Given the description of an element on the screen output the (x, y) to click on. 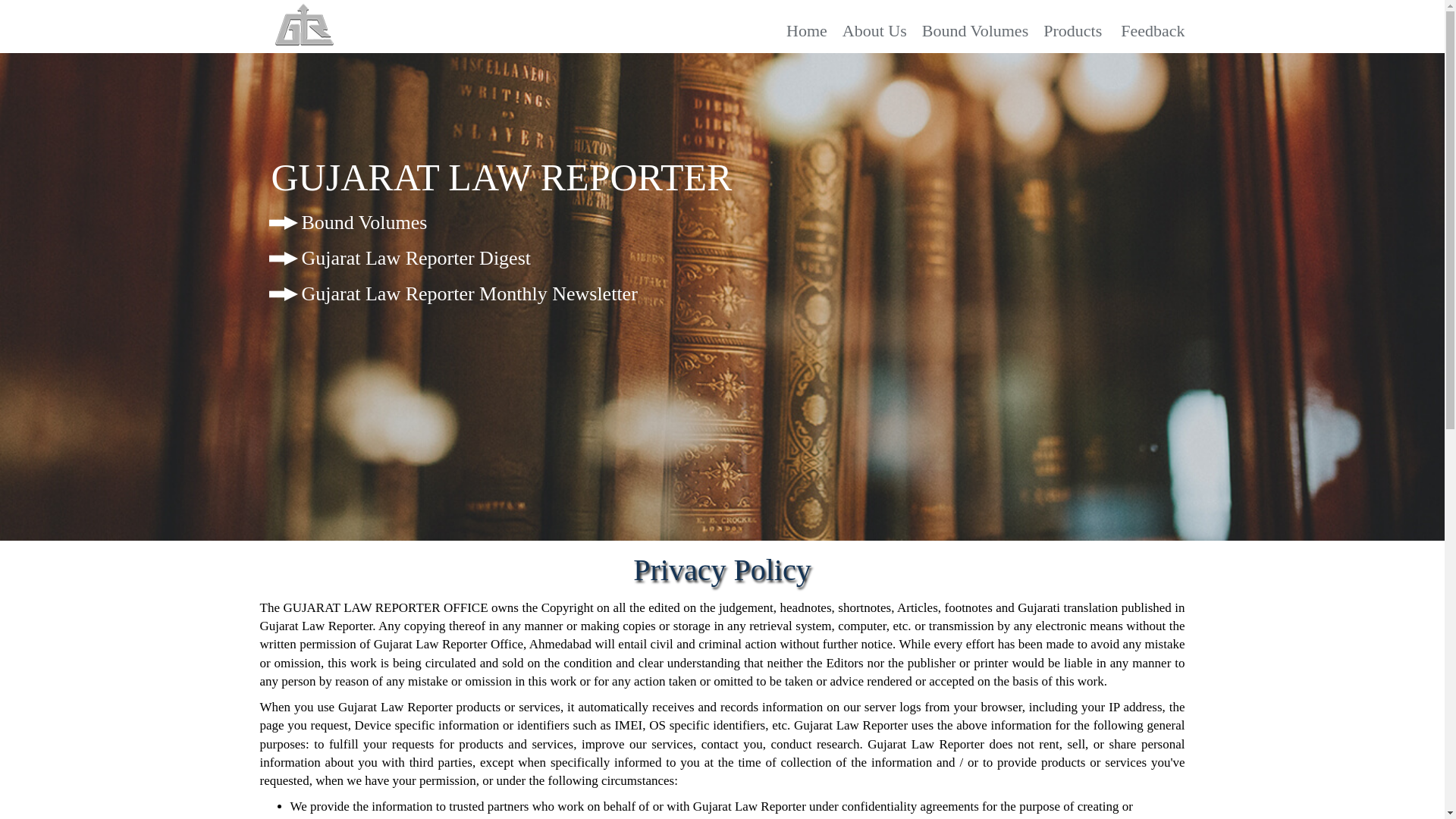
Home (806, 30)
Bound Volumes (974, 30)
Products (1072, 30)
Feedback (1153, 30)
About Us (875, 30)
